Given the description of an element on the screen output the (x, y) to click on. 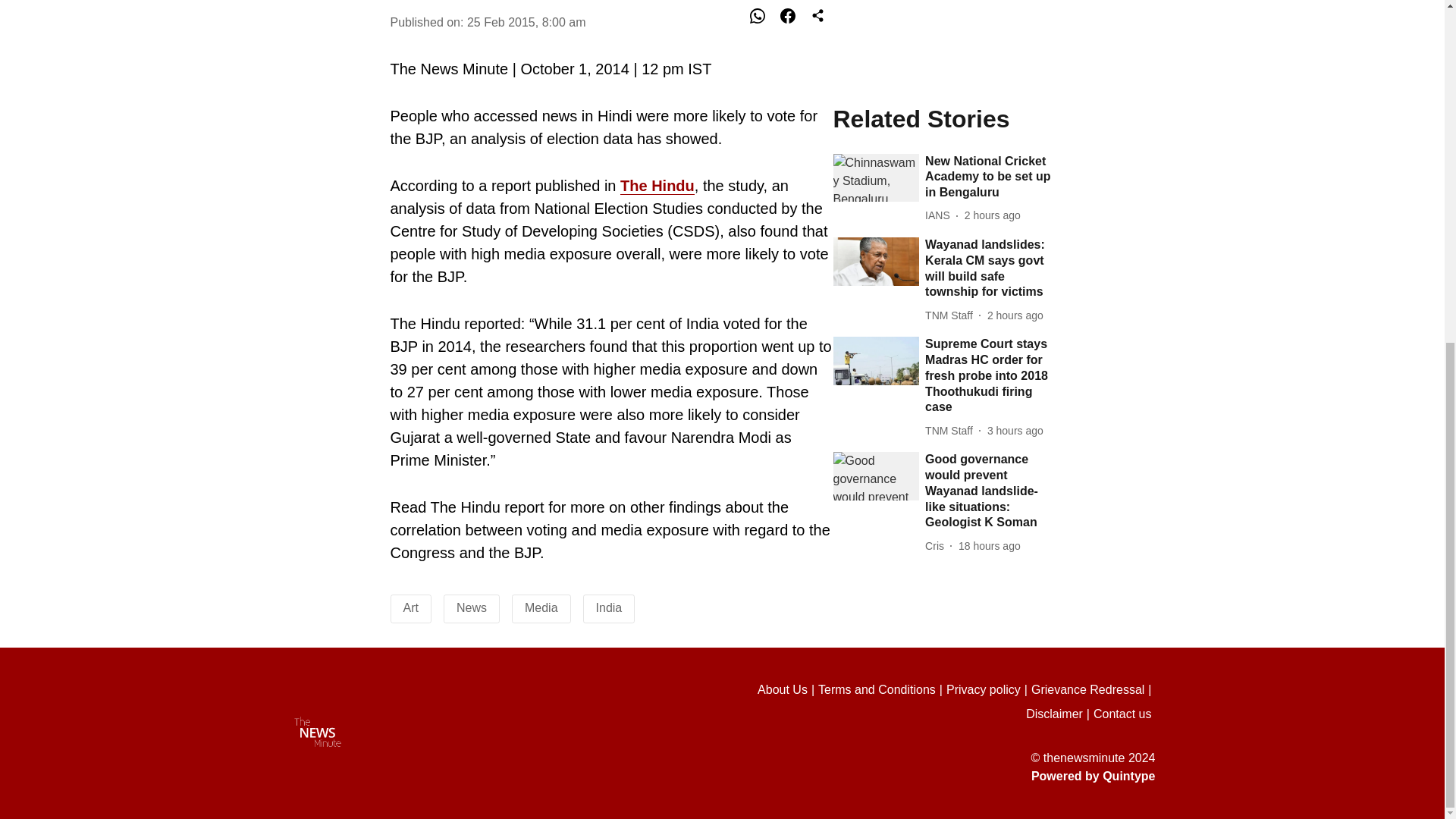
TNM Staff (951, 28)
The Hindu (657, 185)
Art (411, 606)
2024-08-04 05:29 (1015, 28)
News (471, 606)
2015-02-25 00:00 (526, 21)
India (609, 606)
Media (540, 606)
2024-08-03 14:54 (989, 144)
